Given the description of an element on the screen output the (x, y) to click on. 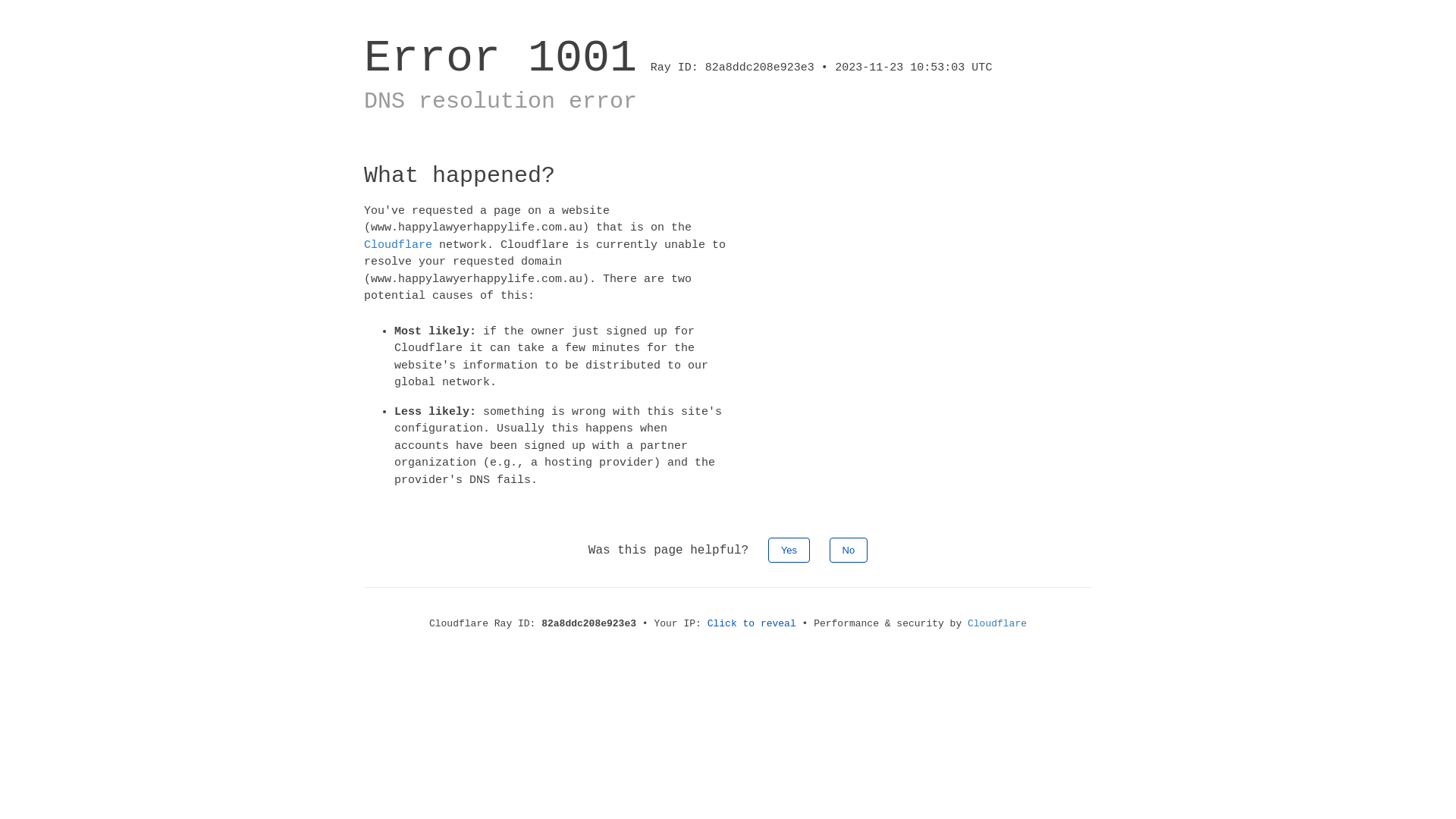
Cloudflare Element type: text (398, 244)
Yes Element type: text (788, 549)
No Element type: text (848, 549)
Cloudflare Element type: text (996, 623)
Click to reveal Element type: text (751, 623)
